Given the description of an element on the screen output the (x, y) to click on. 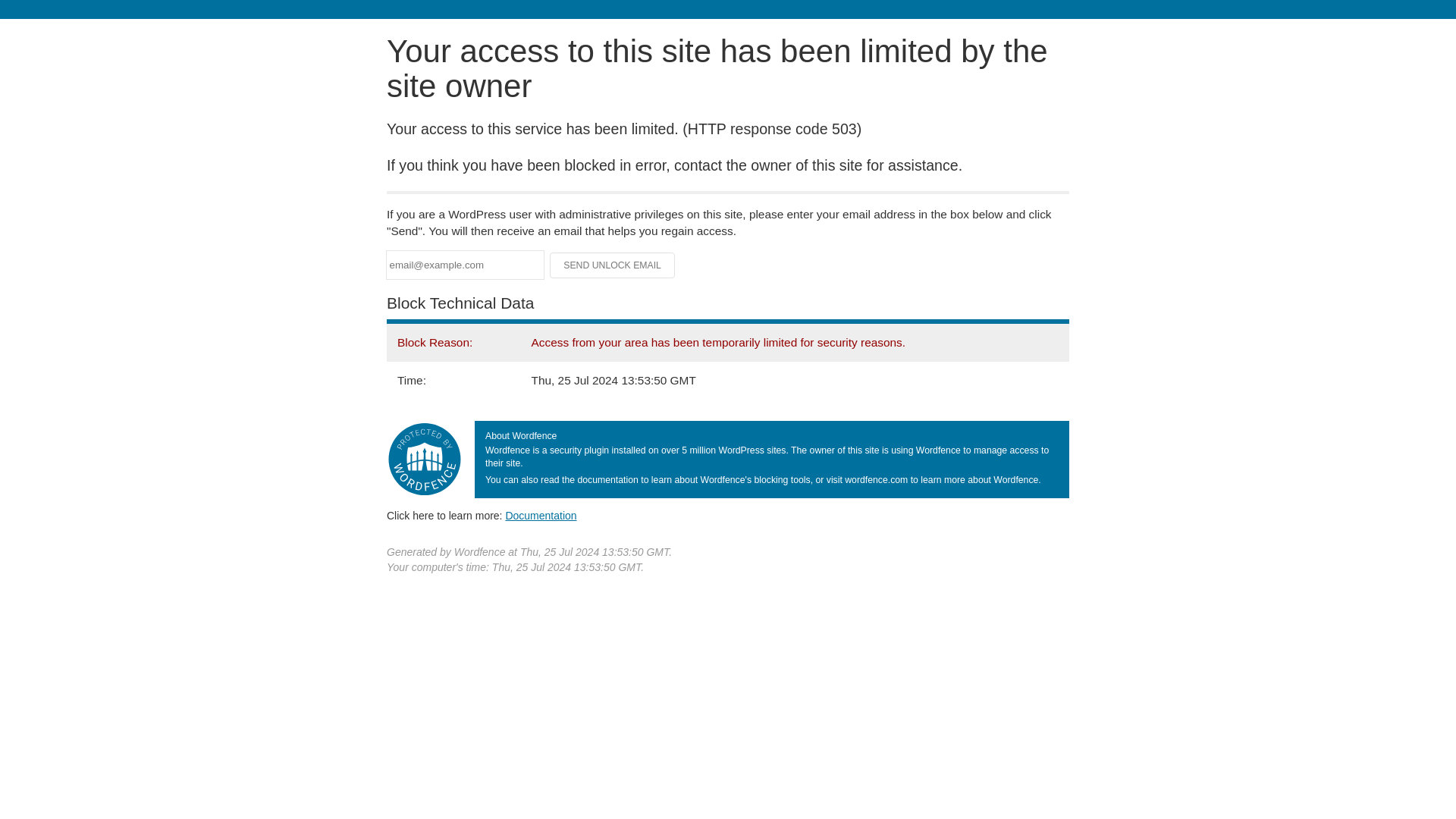
Documentation (540, 515)
Send Unlock Email (612, 265)
Send Unlock Email (612, 265)
